Given the description of an element on the screen output the (x, y) to click on. 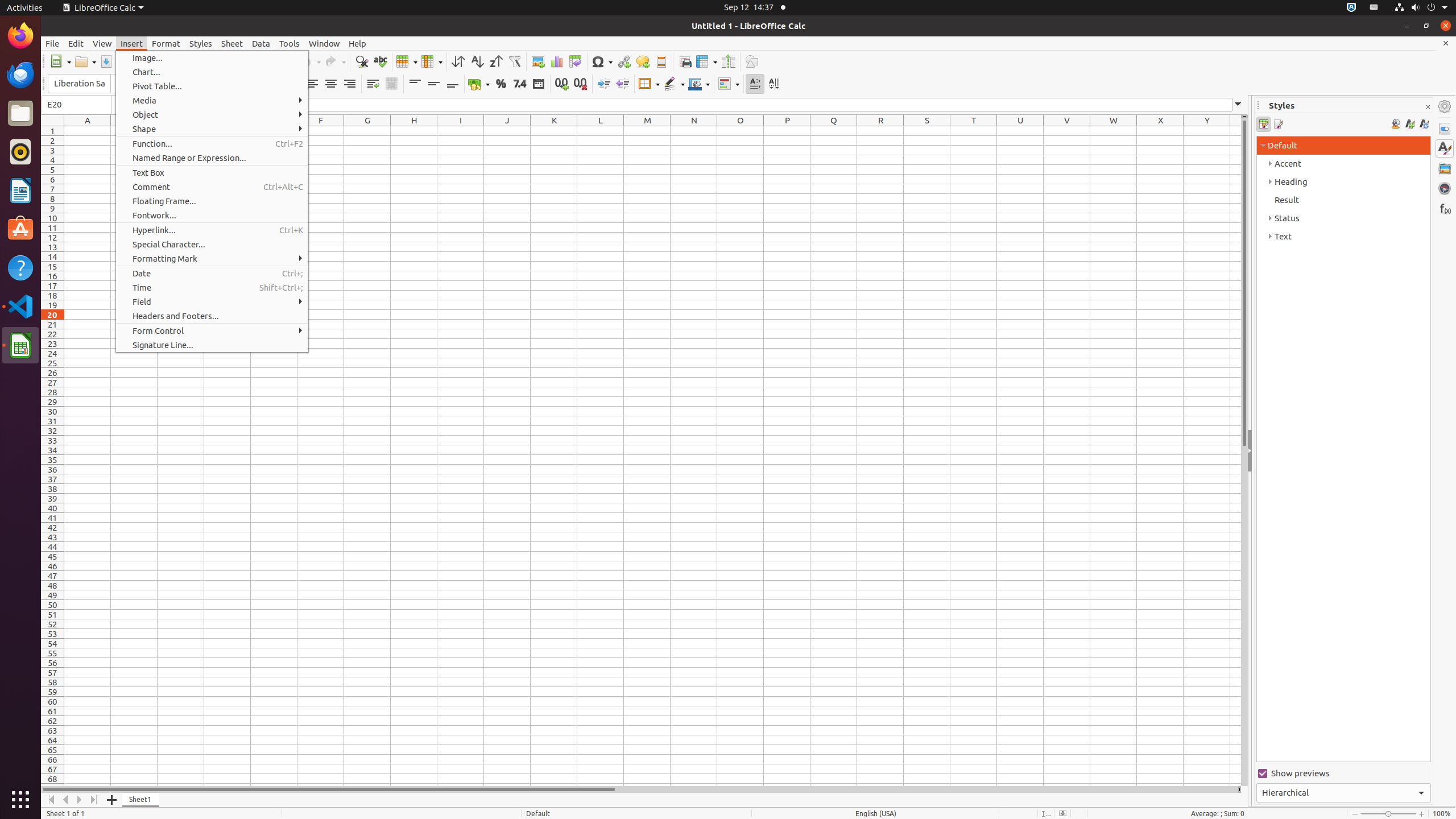
Decrease Element type: push-button (622, 83)
Spelling Element type: push-button (379, 61)
Tools Element type: menu (289, 43)
Comment Element type: menu-item (212, 186)
Move To End Element type: push-button (94, 799)
